Given the description of an element on the screen output the (x, y) to click on. 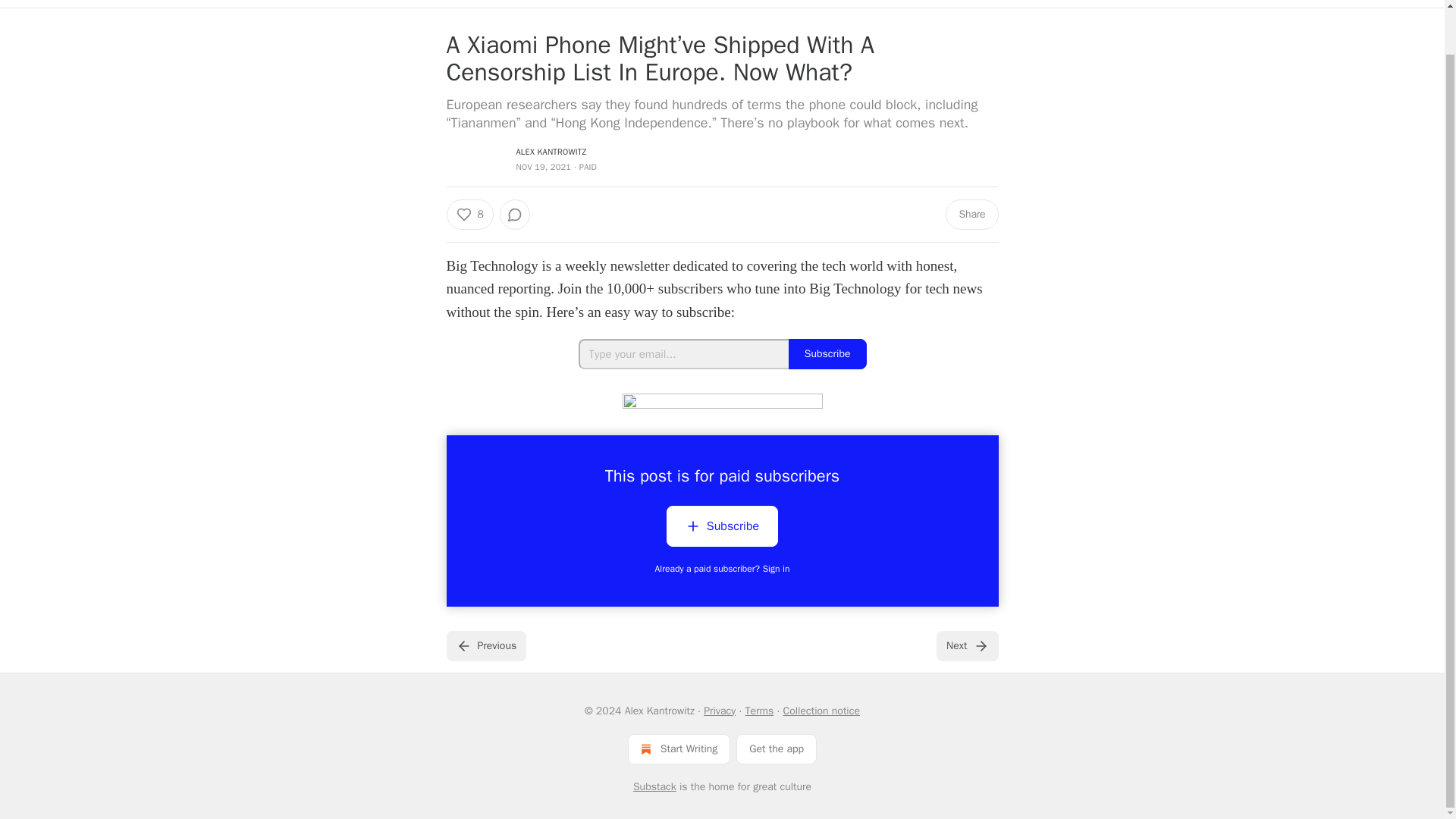
ALEX KANTROWITZ (550, 151)
Subscribe (721, 525)
Terms (758, 709)
8 (469, 214)
Start Writing (678, 748)
Collection notice (821, 709)
Substack (655, 785)
Already a paid subscriber? Sign in (722, 568)
Previous (485, 645)
Get the app (776, 748)
Share (970, 214)
Privacy (719, 709)
Subscribe (827, 354)
Subscribe (721, 529)
Next (966, 645)
